Given the description of an element on the screen output the (x, y) to click on. 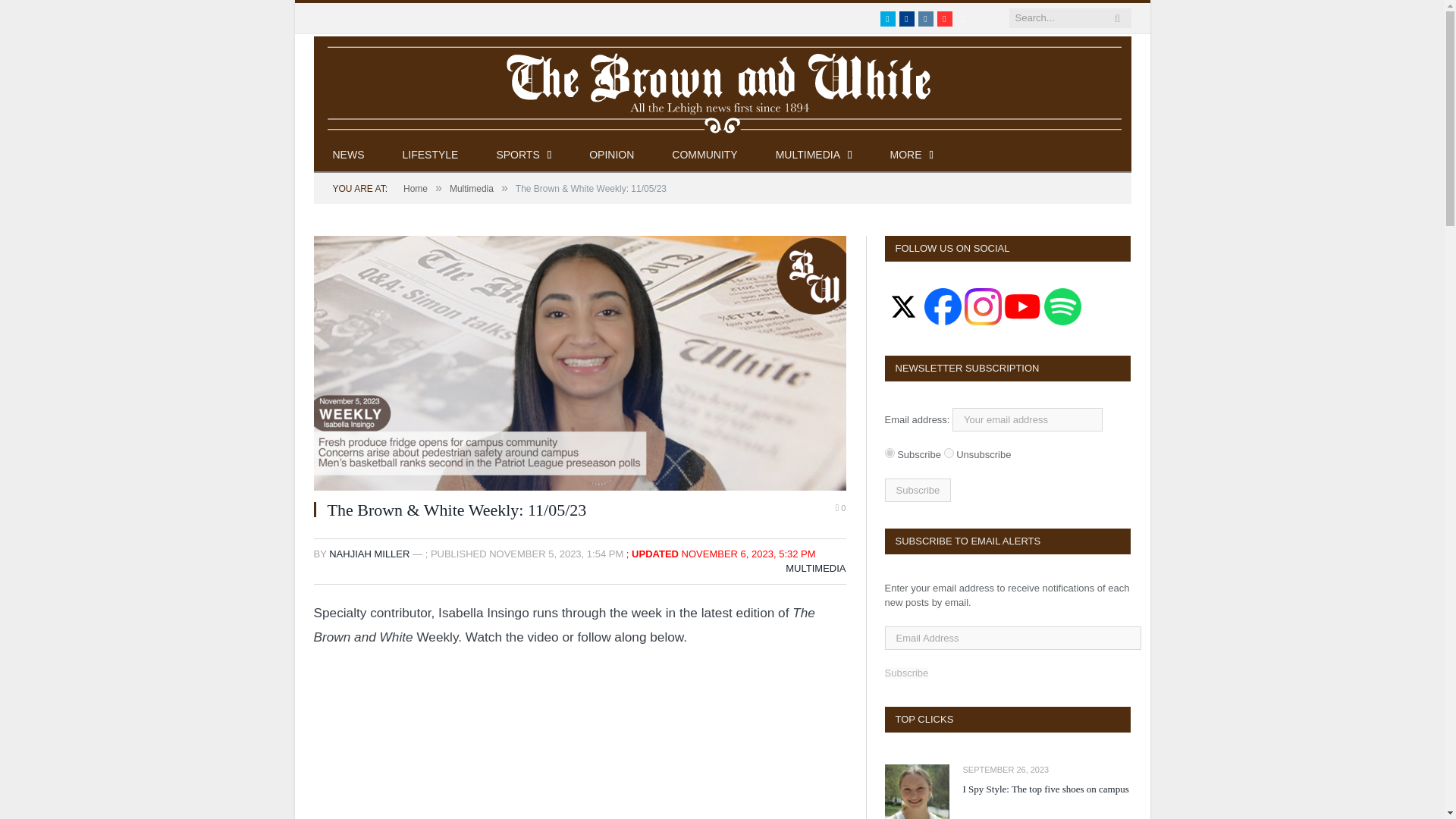
MULTIMEDIA (813, 155)
Twitter (887, 18)
Instagram (925, 18)
MORE (911, 155)
Instagram (925, 18)
Spotify (963, 18)
2023-11-06 (748, 553)
Facebook (906, 18)
subscribe (888, 452)
SPORTS (523, 155)
